Given the description of an element on the screen output the (x, y) to click on. 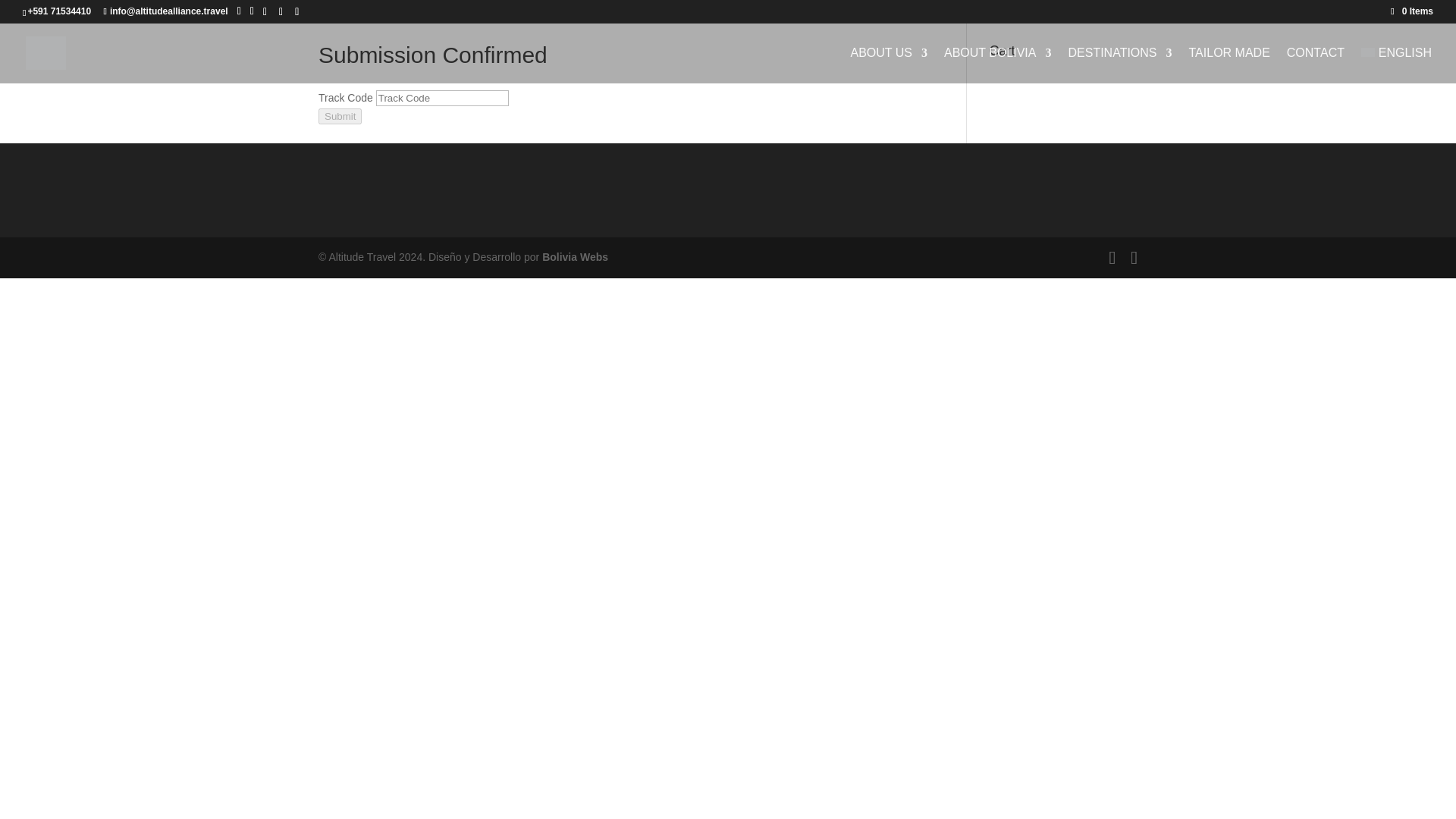
English (1396, 65)
DESTINATIONS (1119, 65)
0 Items (1411, 10)
ABOUT BOLIVIA (997, 65)
ABOUT US (888, 65)
